Given the description of an element on the screen output the (x, y) to click on. 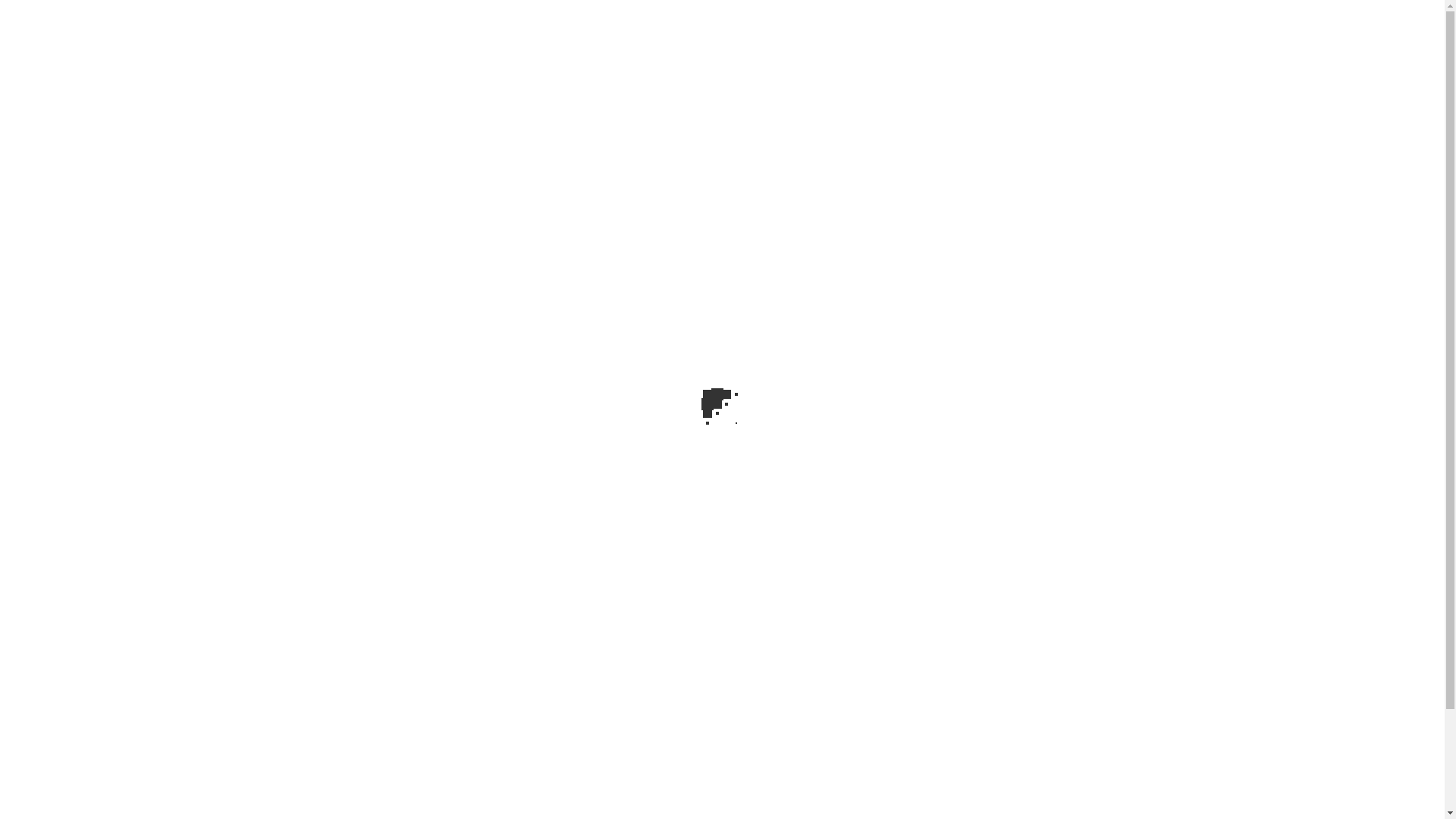
RESOURCES Element type: text (769, 401)
MEMBERS Element type: text (1053, 402)
ABOUT Element type: text (426, 401)
CONTACT Element type: text (722, 447)
UNITED NATIONS/CEDAW Element type: text (910, 401)
IN OUR OWN WORDS Element type: text (633, 402)
ACTIVISM Element type: text (504, 401)
HOME Element type: text (365, 401)
